Given the description of an element on the screen output the (x, y) to click on. 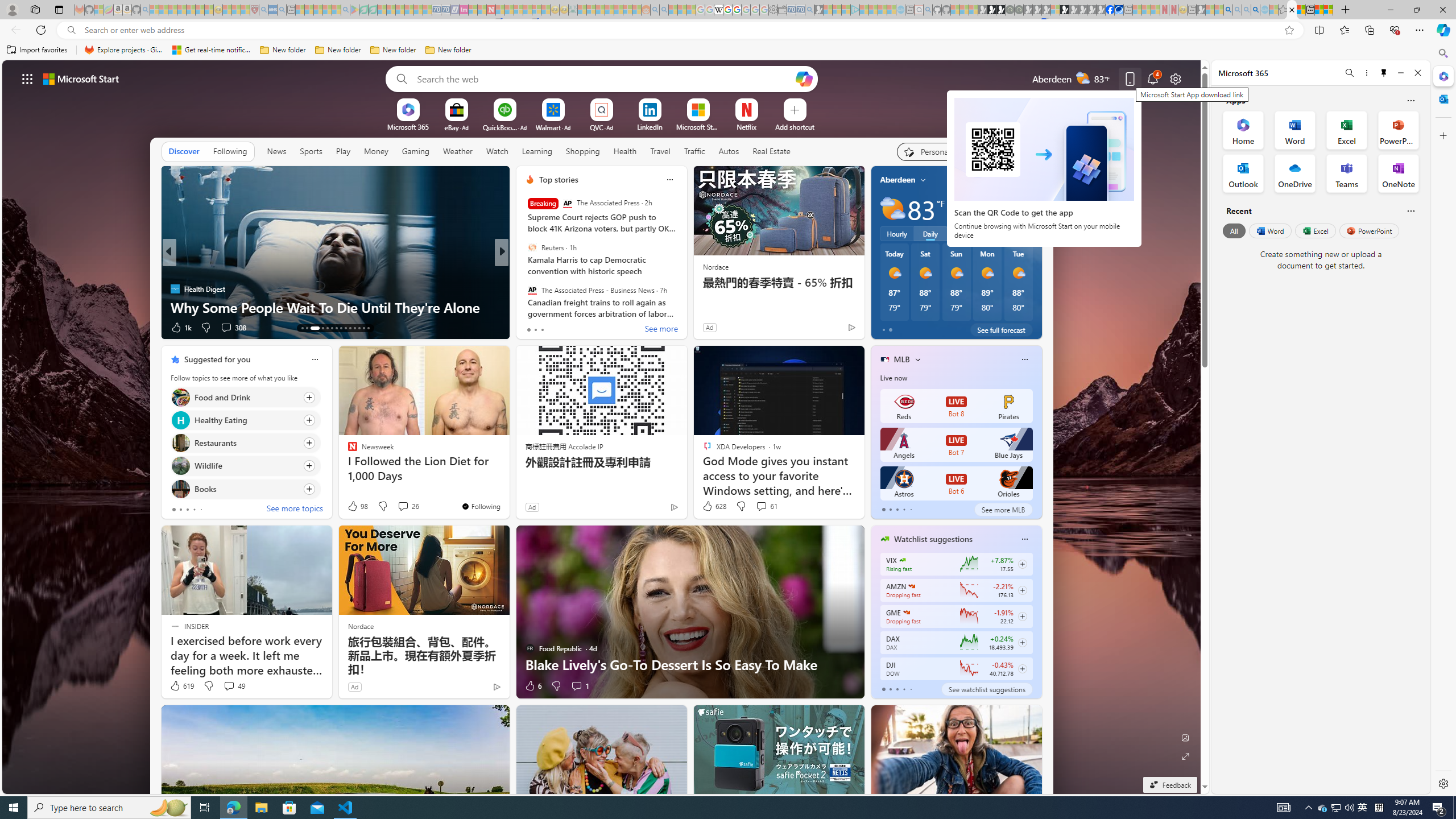
AutomationID: tab-16 (322, 328)
MSN - Sleeping (1200, 9)
Aberdeen (897, 179)
Suggested for you (216, 359)
Excel (1315, 230)
Future Focus Report 2024 - Sleeping (1018, 9)
View comments 31 Comment (580, 327)
